Given the description of an element on the screen output the (x, y) to click on. 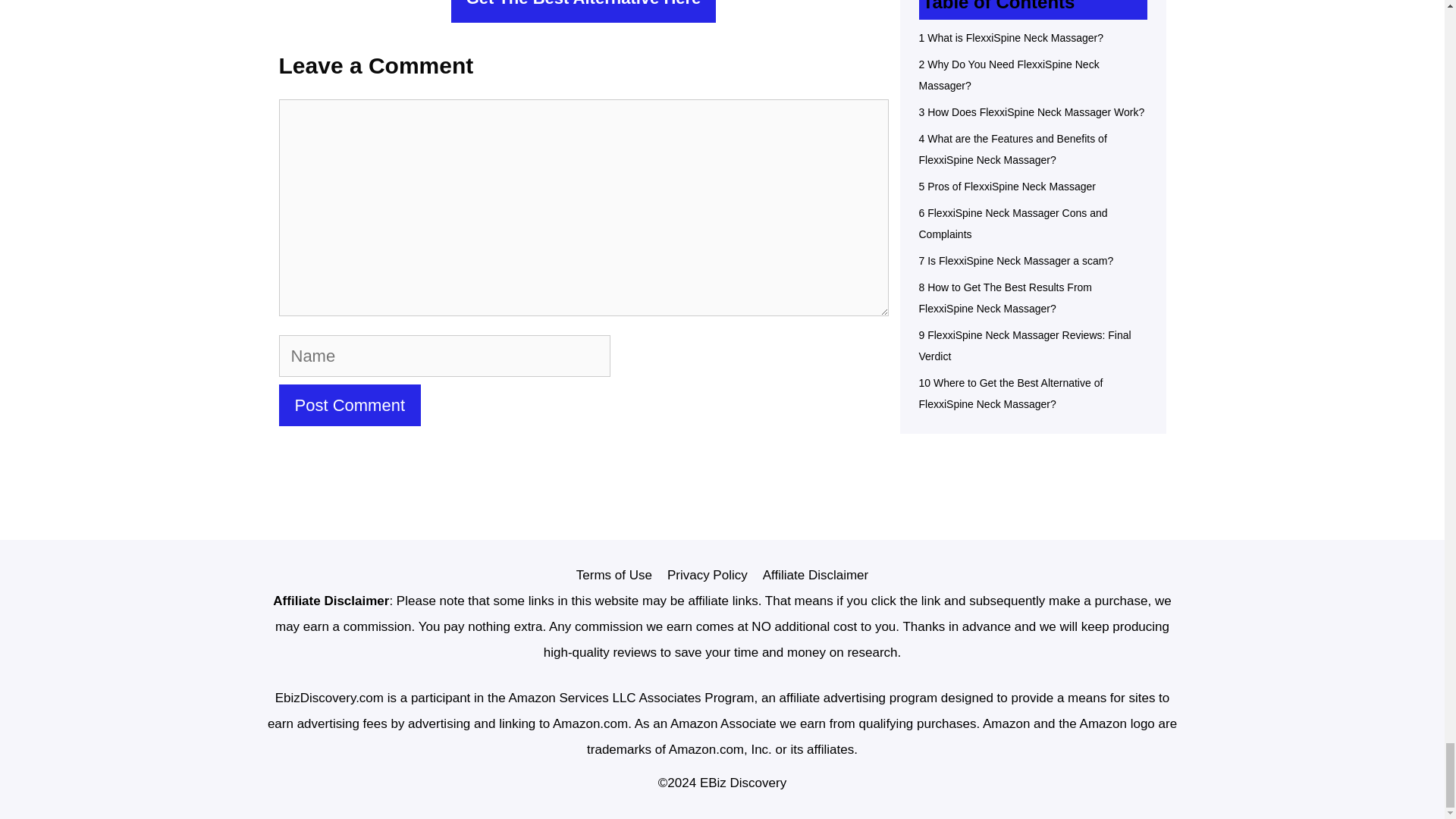
Post Comment (350, 404)
Affiliate Disclaimer (815, 575)
Privacy Policy (707, 575)
Get The Best Alternative Here (583, 11)
Post Comment (350, 404)
Terms of Use (614, 575)
